Given the description of an element on the screen output the (x, y) to click on. 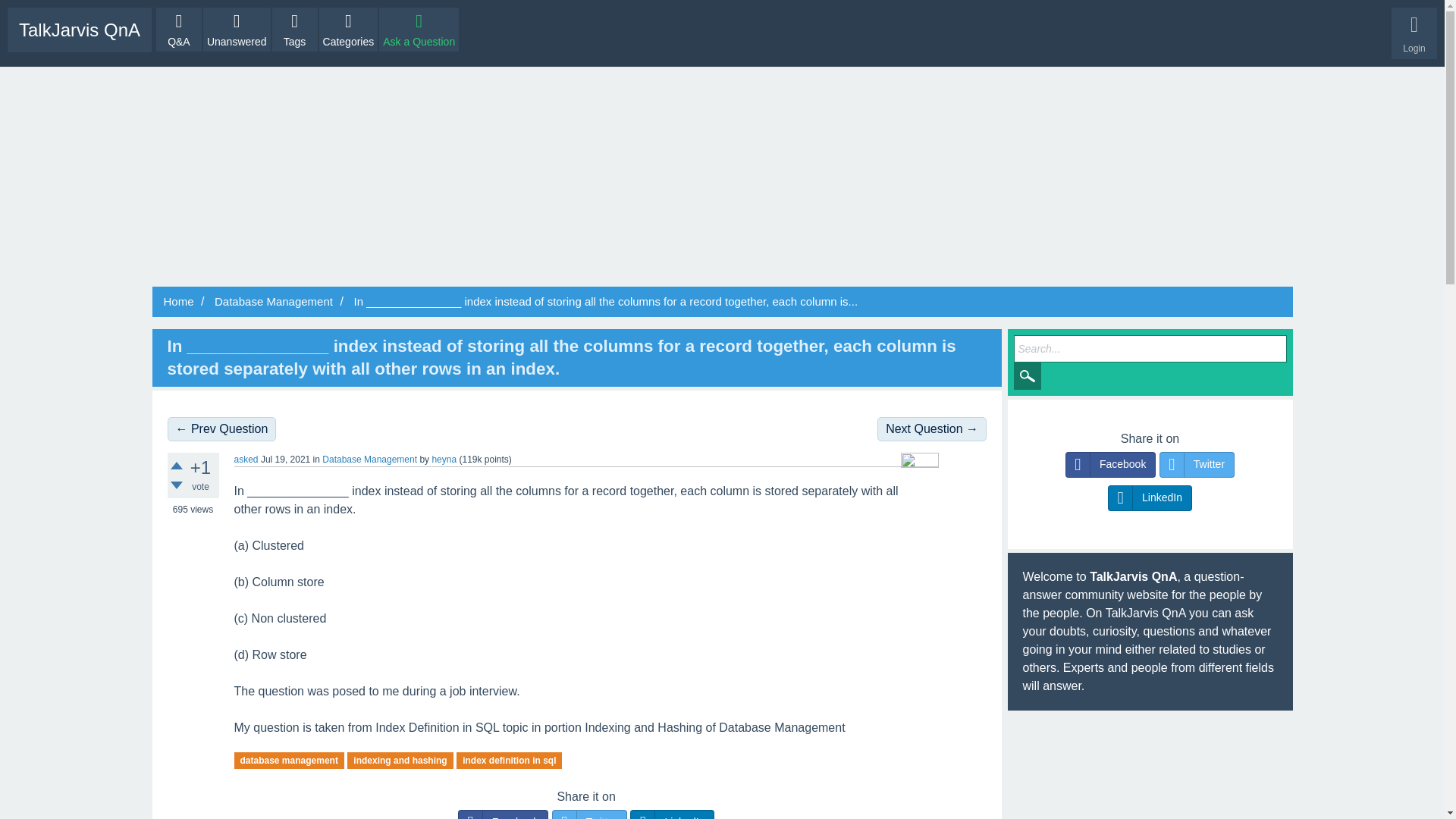
Pictorial representation of an expression is called (932, 428)
heyna (443, 459)
Database Management (368, 459)
Twitter (589, 814)
Twitter (589, 814)
Search (1027, 375)
Ask a Question (418, 29)
Facebook (503, 814)
index definition in sql (509, 760)
TalkJarvis QnA (79, 29)
